Given the description of an element on the screen output the (x, y) to click on. 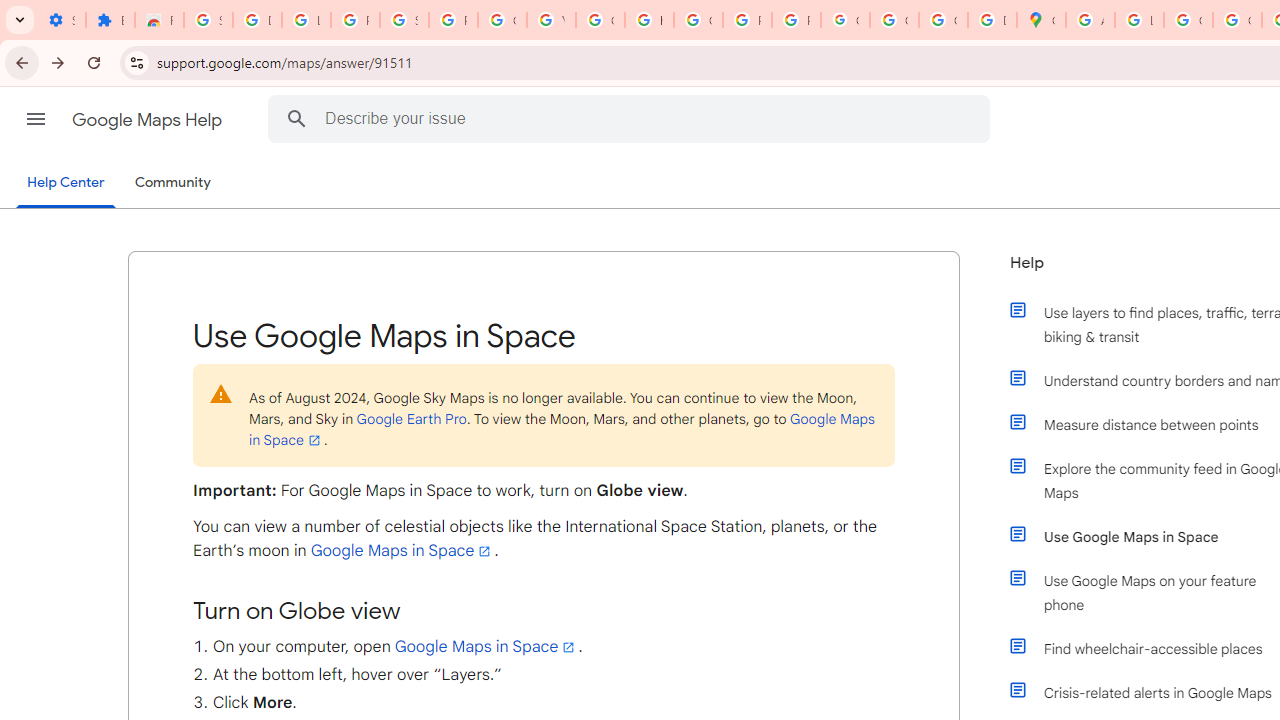
Help Center (65, 183)
Create your Google Account (1188, 20)
Delete photos & videos - Computer - Google Photos Help (257, 20)
Sign in - Google Accounts (404, 20)
Google Account (502, 20)
YouTube (551, 20)
Google Maps Help (148, 119)
Sign in - Google Accounts (208, 20)
Search Help Center (297, 118)
